Given the description of an element on the screen output the (x, y) to click on. 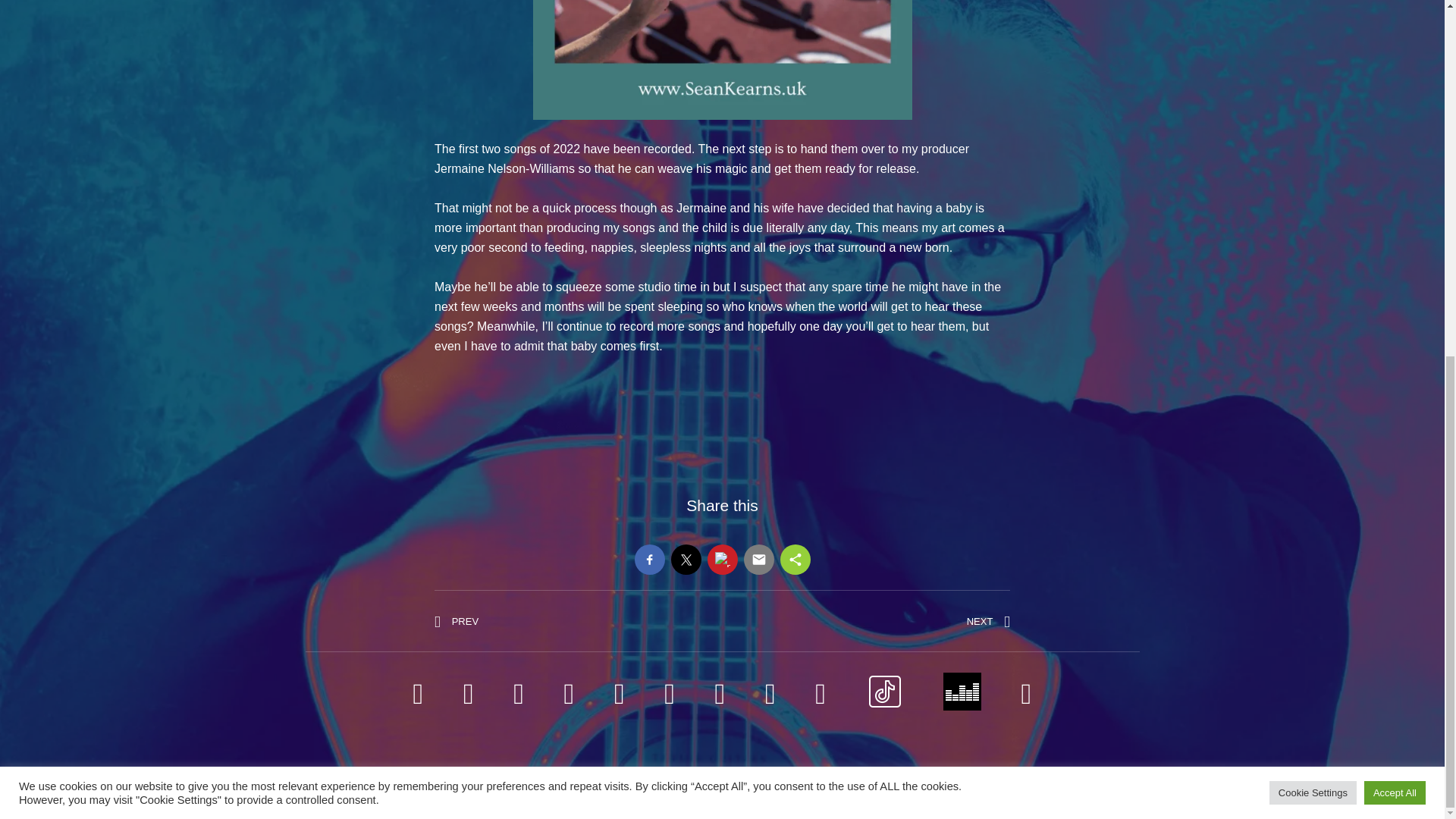
Mute (1374, 174)
Accept All (1394, 167)
Toggle Playlist (1403, 174)
Previous Track (28, 174)
Cookie Settings (979, 621)
Next Track (465, 621)
Play (1312, 167)
deezer (80, 174)
